Given the description of an element on the screen output the (x, y) to click on. 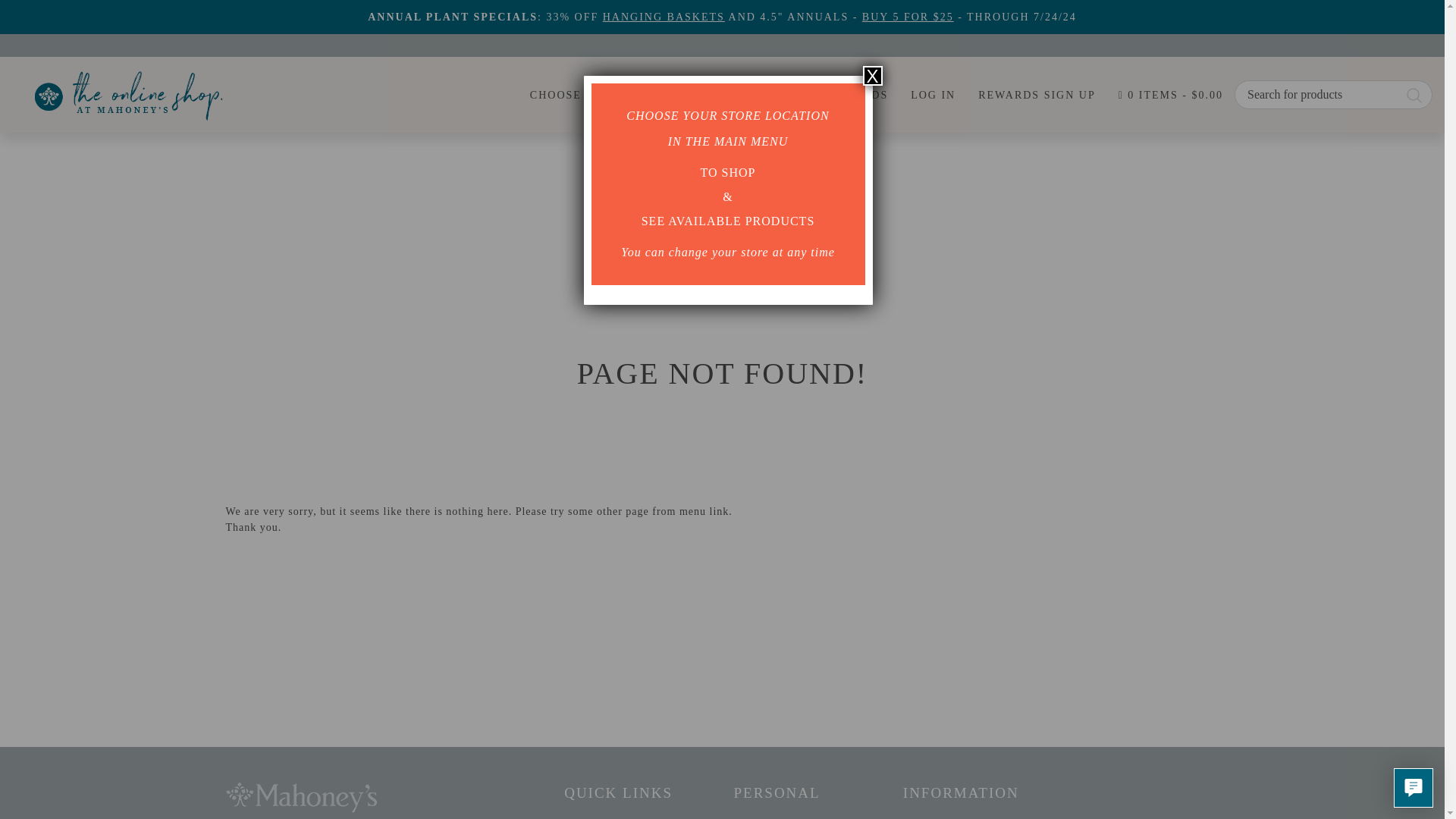
Start shopping (1170, 94)
CHOOSE LOCATION (589, 94)
SHOP (754, 94)
HANGING BASKETS (663, 16)
HOME (691, 94)
